Given the description of an element on the screen output the (x, y) to click on. 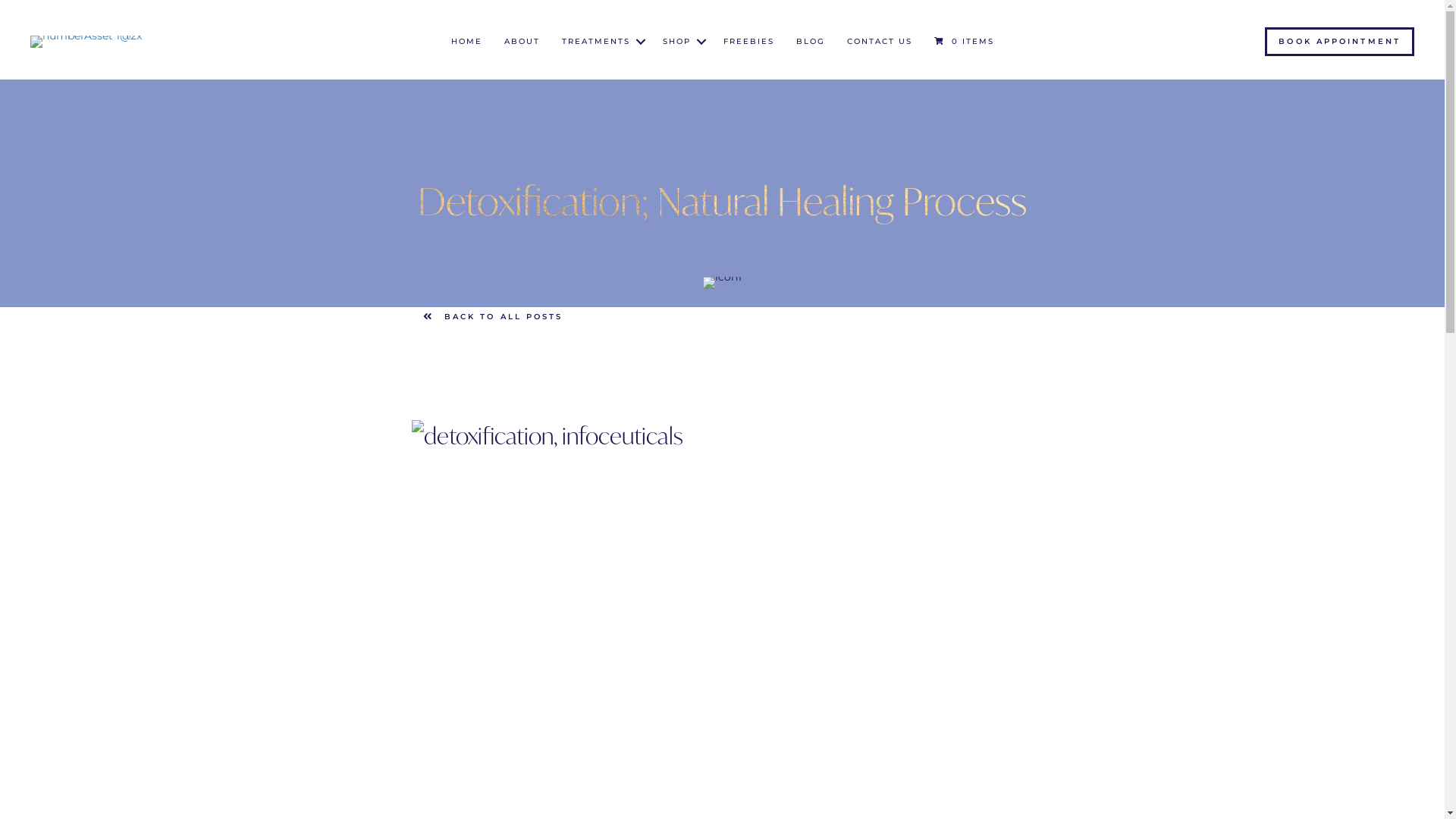
numberAsset 1@2x Element type: hover (85, 40)
HOME Element type: text (465, 41)
BOOK APPOINTMENT Element type: text (1339, 41)
SHOP Element type: text (682, 41)
icon1 Element type: hover (721, 282)
FREEBIES Element type: text (748, 41)
BACK TO ALL POSTS Element type: text (492, 316)
TREATMENTS Element type: text (600, 41)
BLOG Element type: text (810, 41)
CONTACT US Element type: text (878, 41)
0 ITEMS Element type: text (963, 41)
ABOUT Element type: text (520, 41)
